Given the description of an element on the screen output the (x, y) to click on. 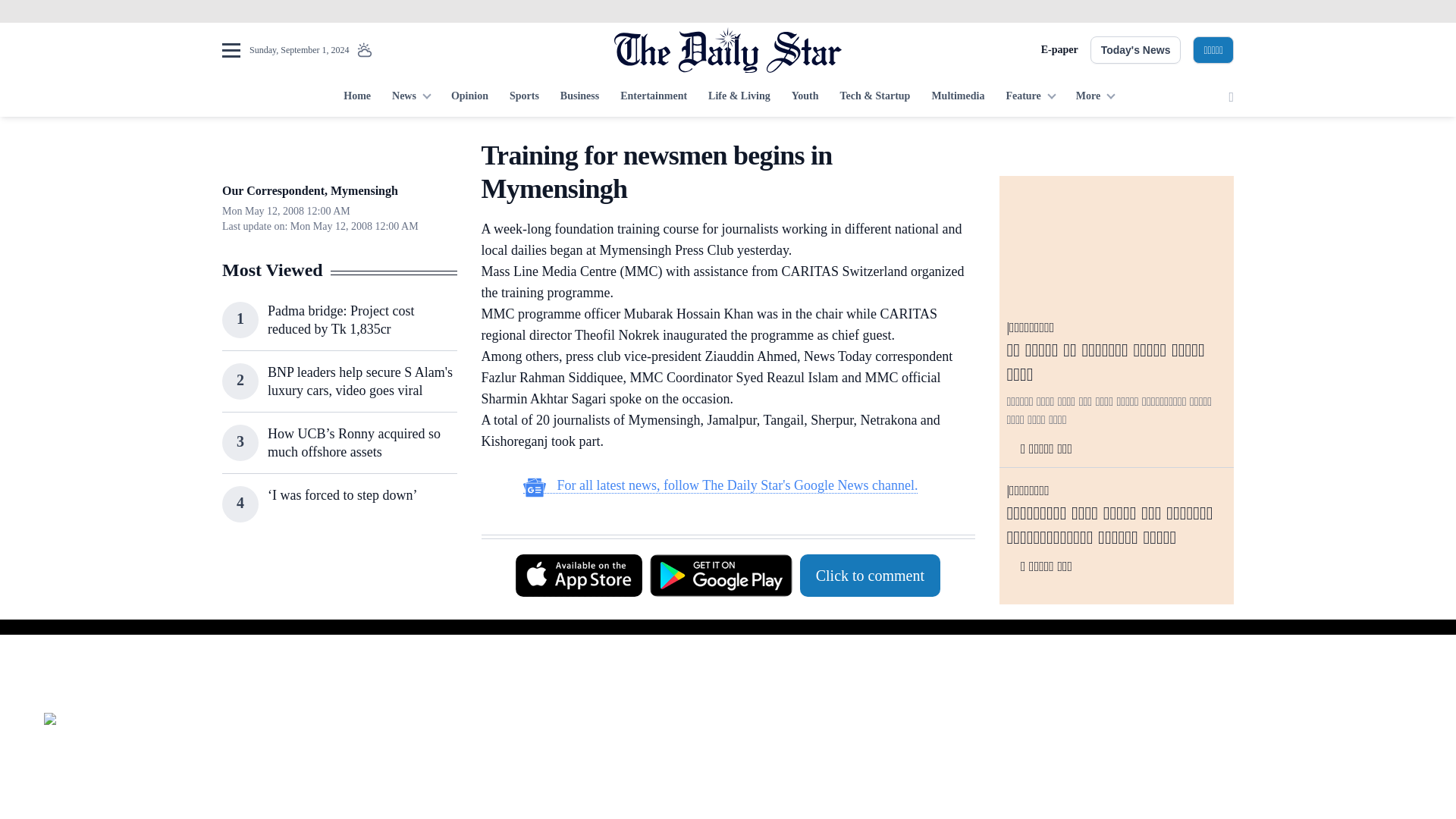
Entertainment (653, 96)
Home (357, 96)
Business (579, 96)
Feature (1028, 96)
Sports (524, 96)
News (410, 96)
Opinion (469, 96)
Today's News (1135, 49)
Multimedia (956, 96)
